Given the description of an element on the screen output the (x, y) to click on. 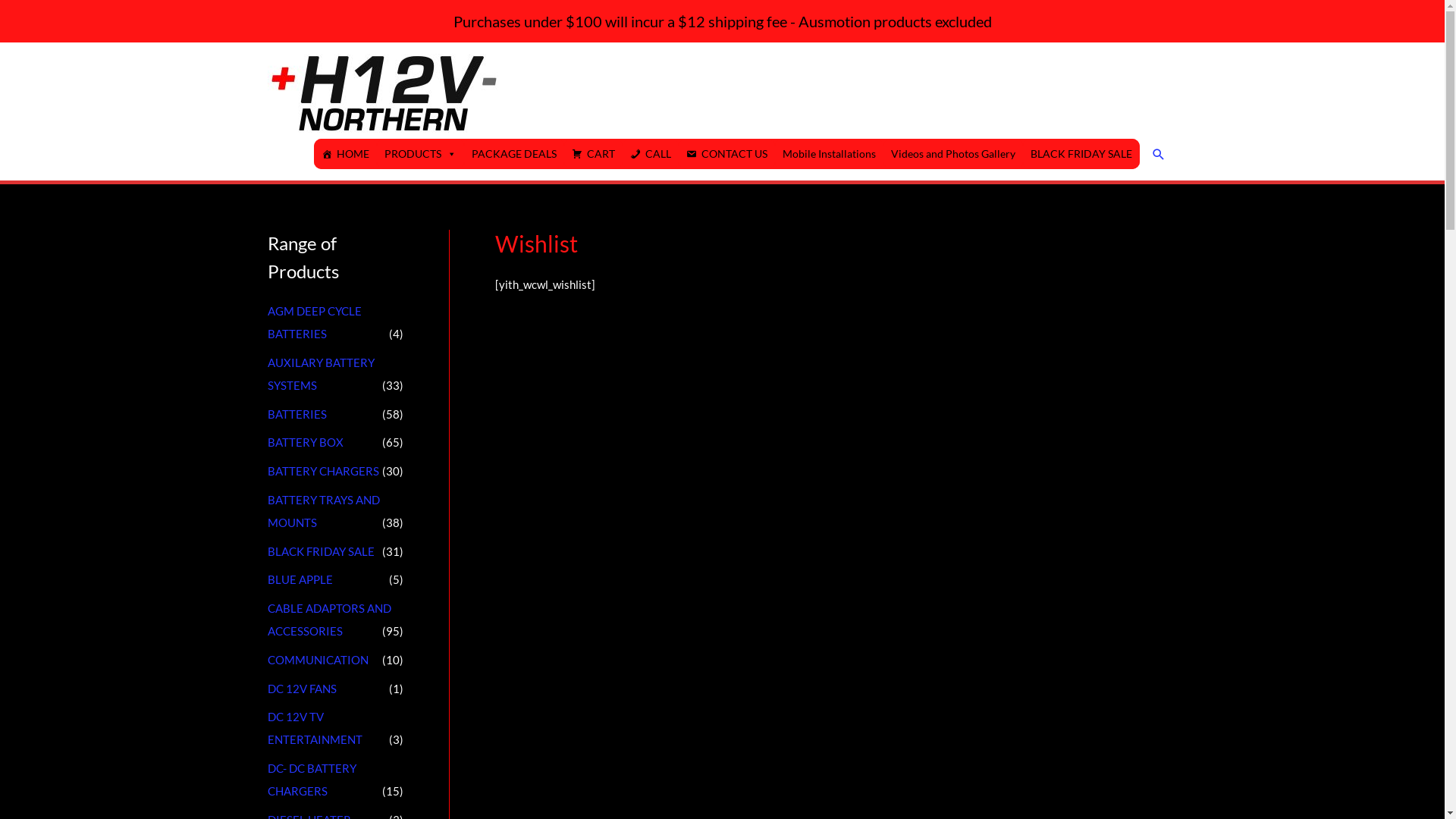
BLACK FRIDAY SALE Element type: text (319, 551)
Videos and Photos Gallery Element type: text (952, 153)
CALL Element type: text (649, 153)
Mobile Installations Element type: text (829, 153)
BATTERY BOX Element type: text (304, 441)
PRODUCTS Element type: text (419, 153)
CART Element type: text (593, 153)
BATTERY TRAYS AND MOUNTS Element type: text (322, 510)
Search Element type: text (1158, 154)
CABLE ADAPTORS AND ACCESSORIES Element type: text (328, 619)
BATTERIES Element type: text (296, 413)
BATTERY CHARGERS Element type: text (322, 470)
DC 12V TV ENTERTAINMENT Element type: text (313, 727)
CONTACT US Element type: text (725, 153)
DC- DC BATTERY CHARGERS Element type: text (310, 779)
BLACK FRIDAY SALE Element type: text (1080, 153)
AUXILARY BATTERY SYSTEMS Element type: text (319, 373)
DC 12V FANS Element type: text (300, 688)
AGM DEEP CYCLE BATTERIES Element type: text (313, 322)
COMMUNICATION Element type: text (316, 659)
HOME Element type: text (344, 153)
PACKAGE DEALS Element type: text (514, 153)
BLUE APPLE Element type: text (299, 579)
